Given the description of an element on the screen output the (x, y) to click on. 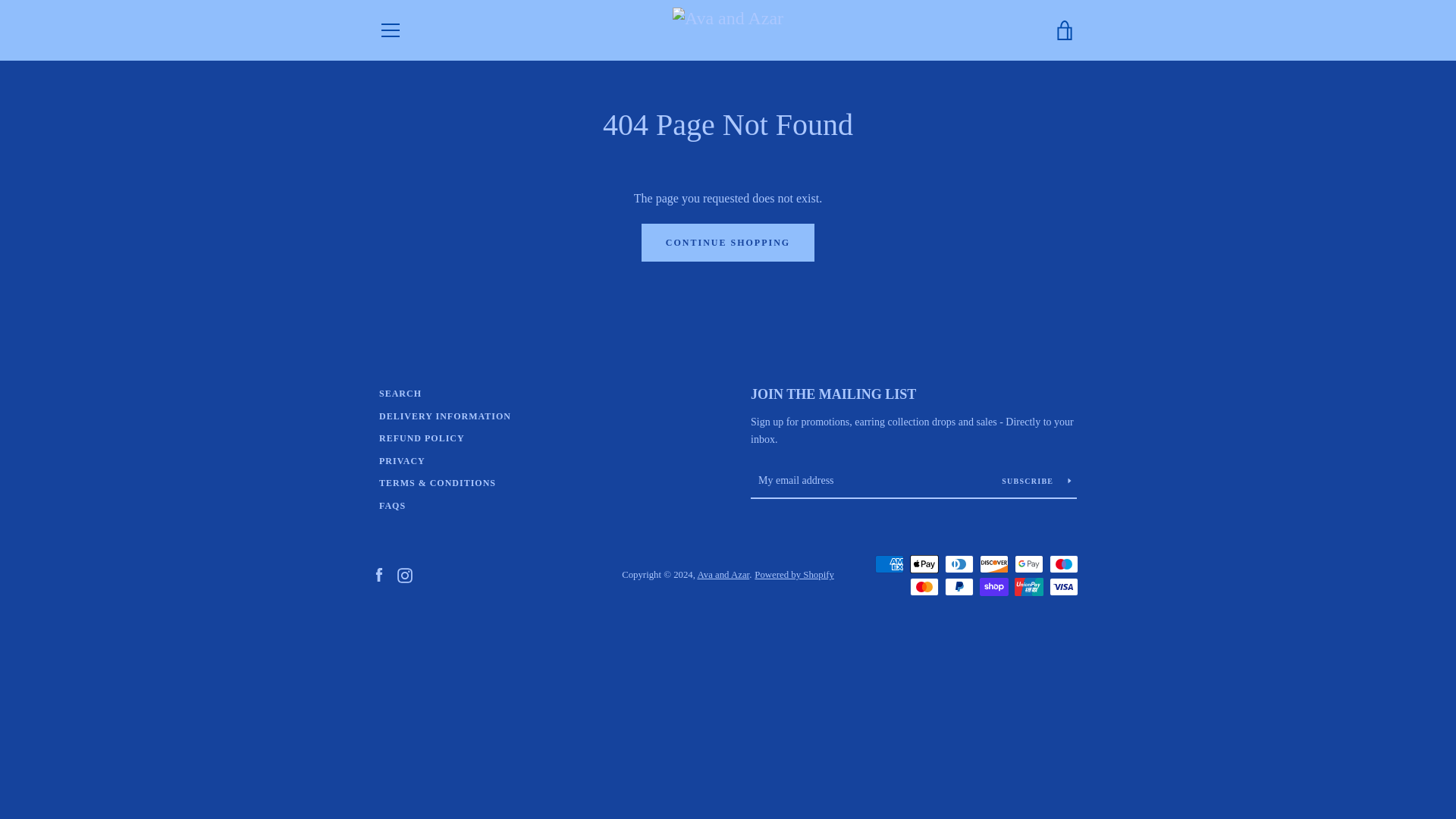
VIEW CART (1065, 30)
Discover (994, 564)
Shop Pay (994, 587)
Visa (1063, 587)
SEARCH (400, 393)
CONTINUE SHOPPING (727, 242)
Ava and Azar on Instagram (404, 573)
Google Pay (1028, 564)
Apple Pay (924, 564)
REFUND POLICY (421, 438)
